Given the description of an element on the screen output the (x, y) to click on. 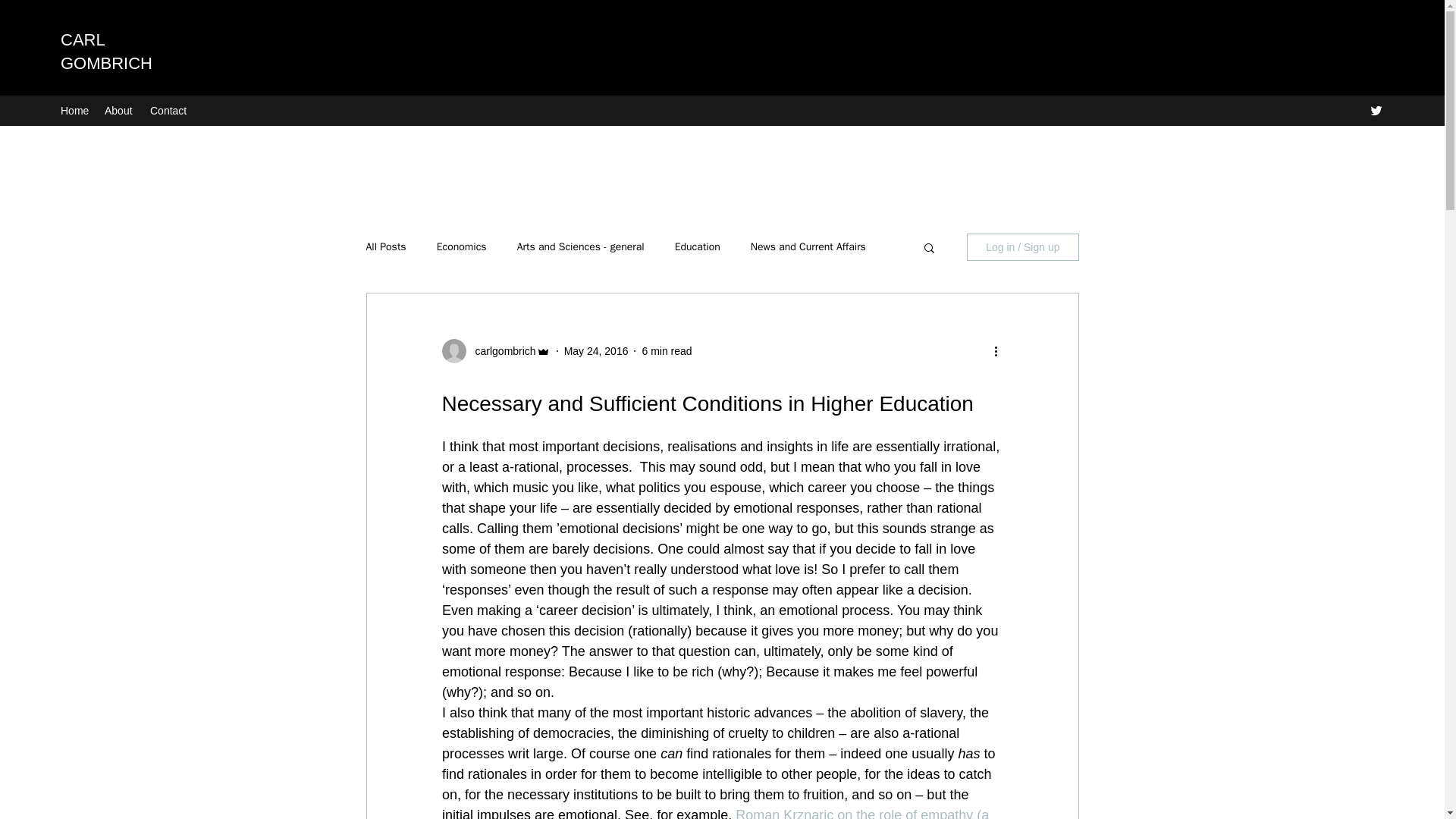
News and Current Affairs (808, 246)
carlgombrich (500, 351)
Home (74, 110)
Arts and Sciences - general (580, 246)
May 24, 2016 (596, 350)
Economics (461, 246)
About (119, 110)
CARL GOMBRICH (106, 51)
All Posts (385, 246)
Contact (168, 110)
Education (697, 246)
6 min read (666, 350)
